Given the description of an element on the screen output the (x, y) to click on. 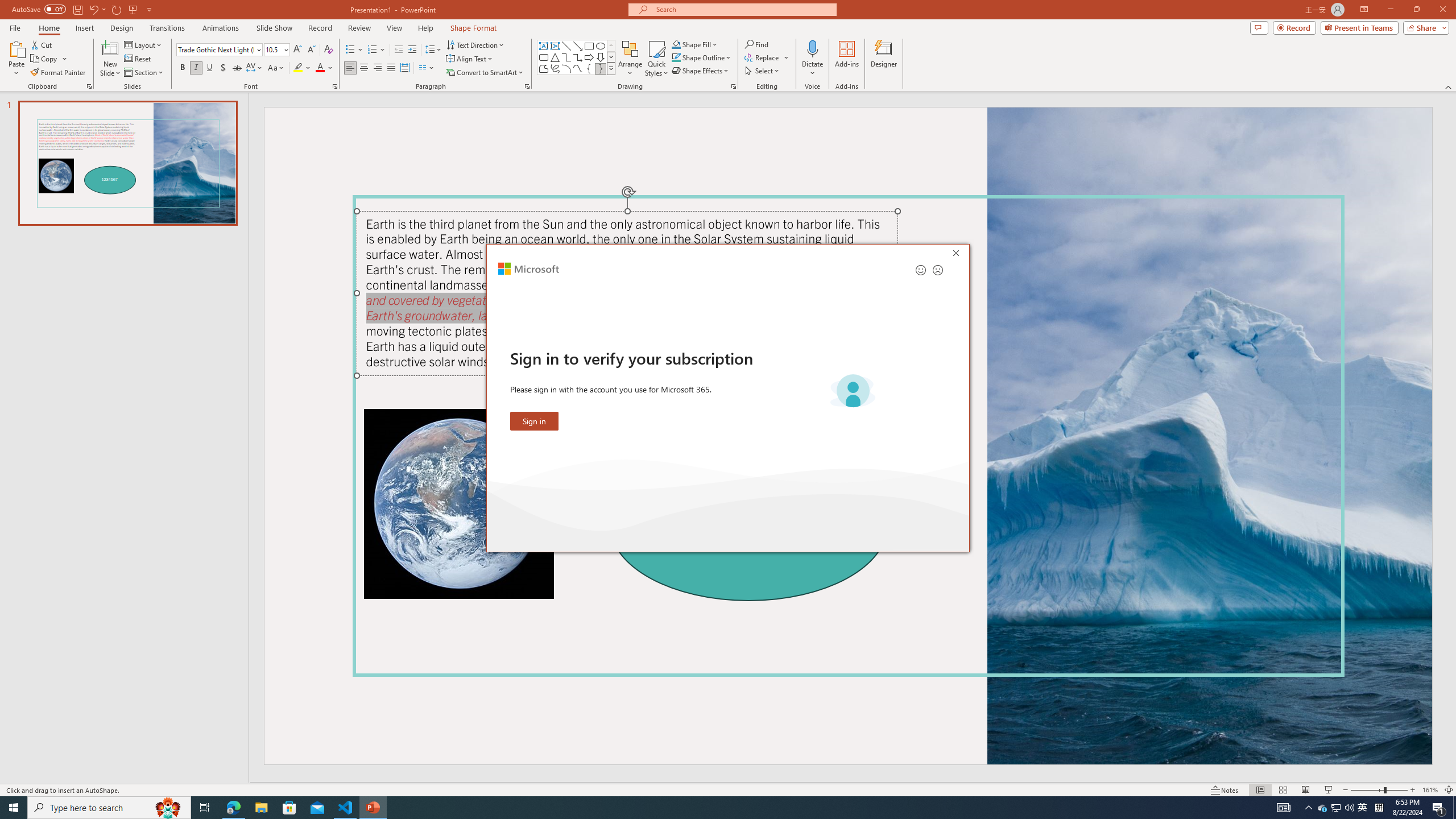
Section (144, 72)
Running applications (700, 807)
Columns (426, 67)
Send a smile for feedback (920, 269)
Format Painter (58, 72)
AutomationID: ShapesInsertGallery (576, 57)
Character Spacing (254, 67)
